Given the description of an element on the screen output the (x, y) to click on. 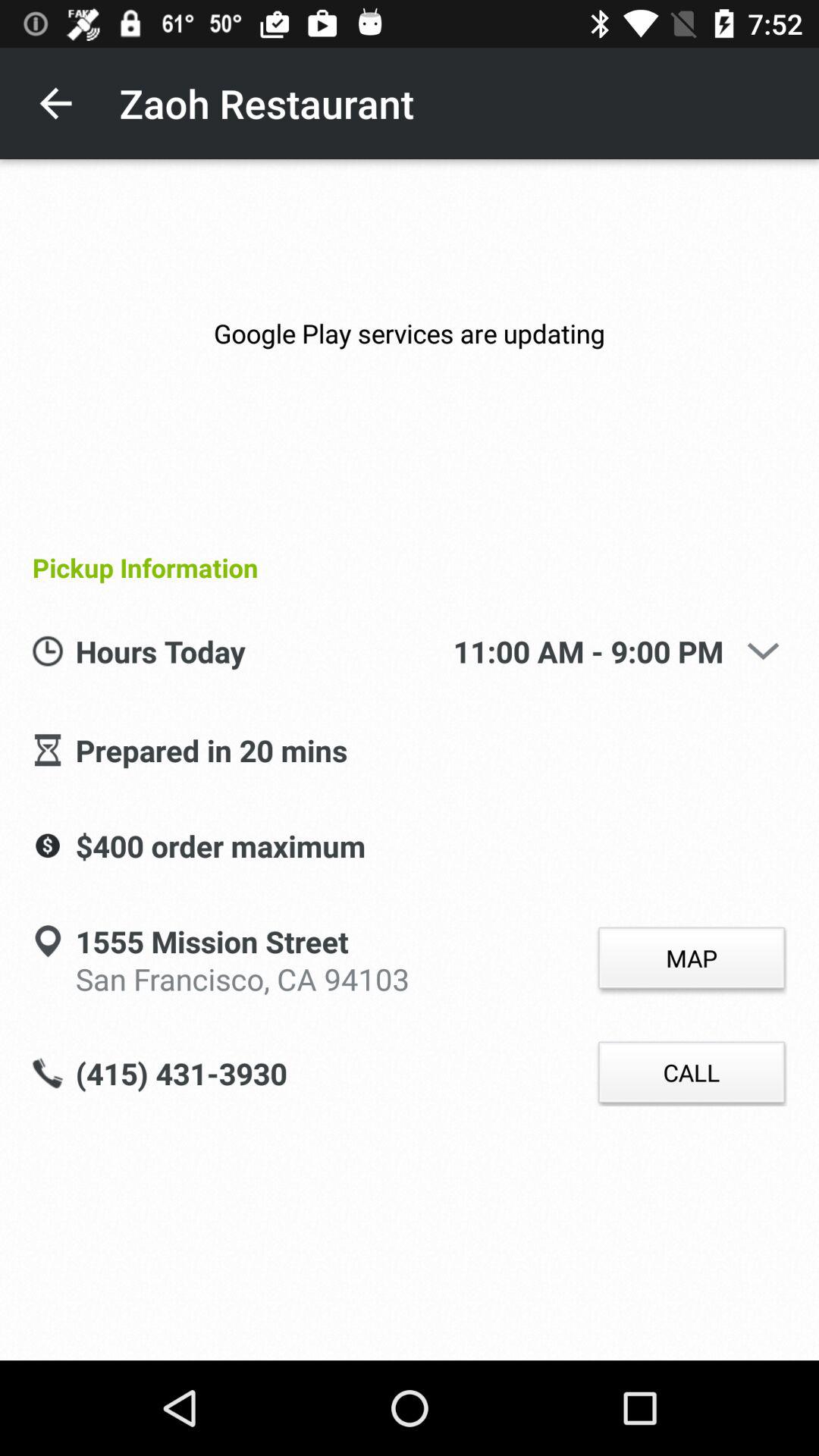
select item to the left of the 11 00 am icon (264, 652)
